Given the description of an element on the screen output the (x, y) to click on. 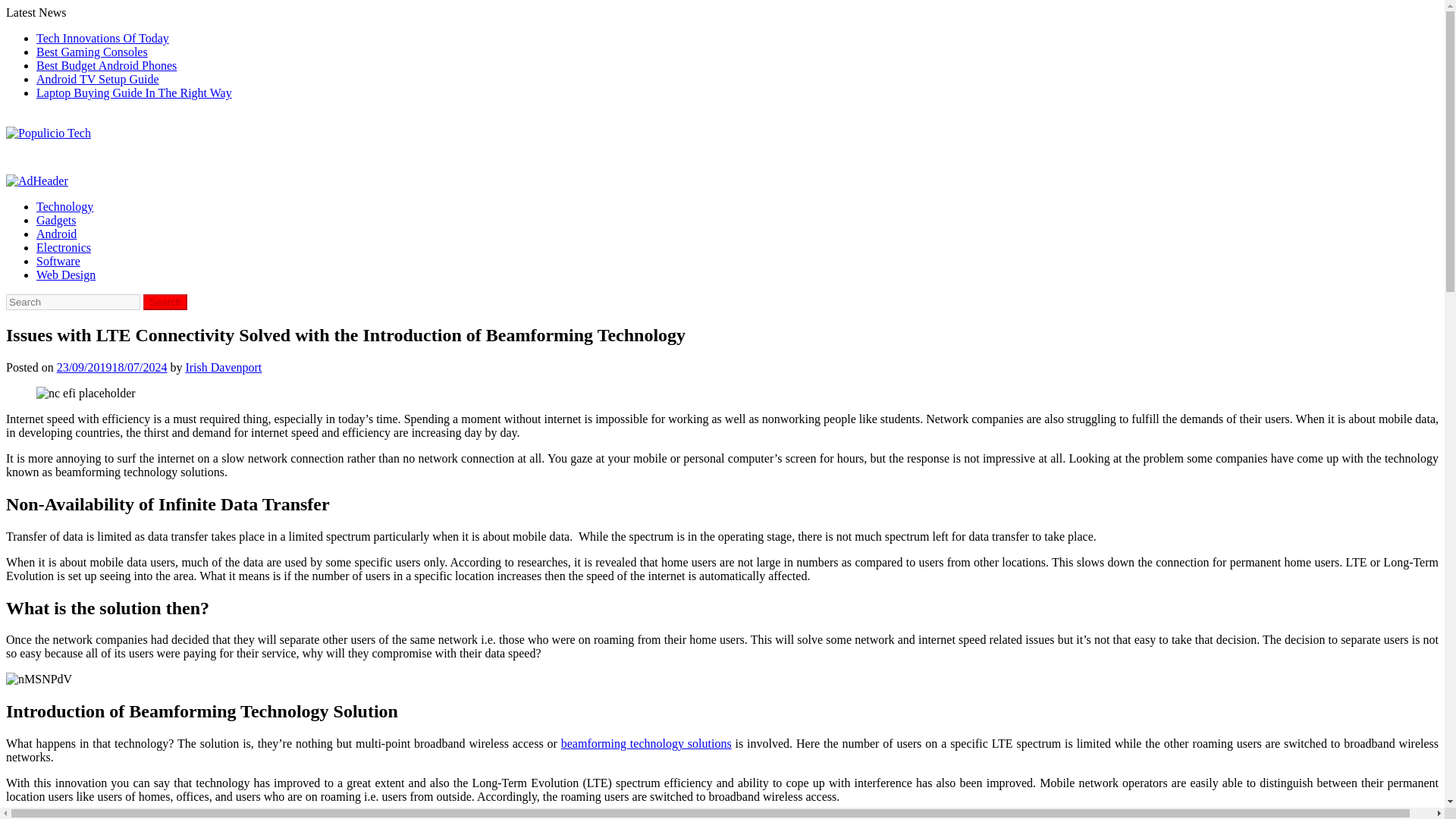
Tech Innovations Of Today (102, 38)
Web Design (66, 274)
Tech Innovations Of Today (102, 38)
Best Budget Android Phones (106, 65)
Technology (64, 205)
Best Gaming Consoles (92, 51)
Search (164, 302)
Laptop Buying Guide In The Right Way (133, 92)
Laptop Buying Guide In The Right Way (133, 92)
Android TV Setup Guide (97, 78)
Best Gaming Consoles (92, 51)
Search (164, 302)
Android (56, 233)
Irish Davenport (223, 367)
